Given the description of an element on the screen output the (x, y) to click on. 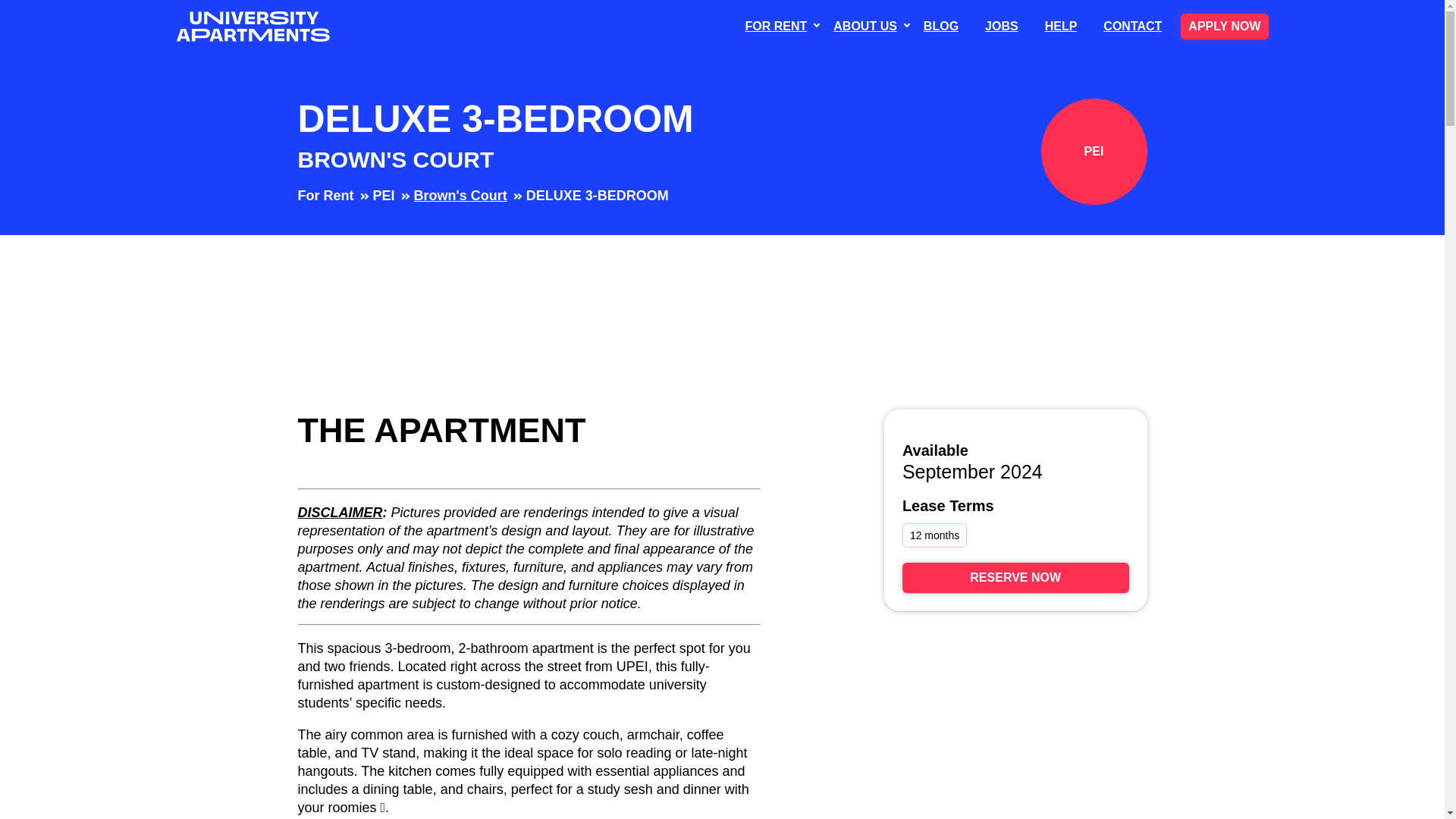
HELP (1060, 26)
Brown's Court (459, 195)
ABOUT US (864, 26)
APPLY NOW (1224, 26)
FOR RENT (776, 26)
JOBS (1001, 26)
RESERVE NOW (1015, 577)
CONTACT (1132, 26)
BLOG (940, 26)
